Given the description of an element on the screen output the (x, y) to click on. 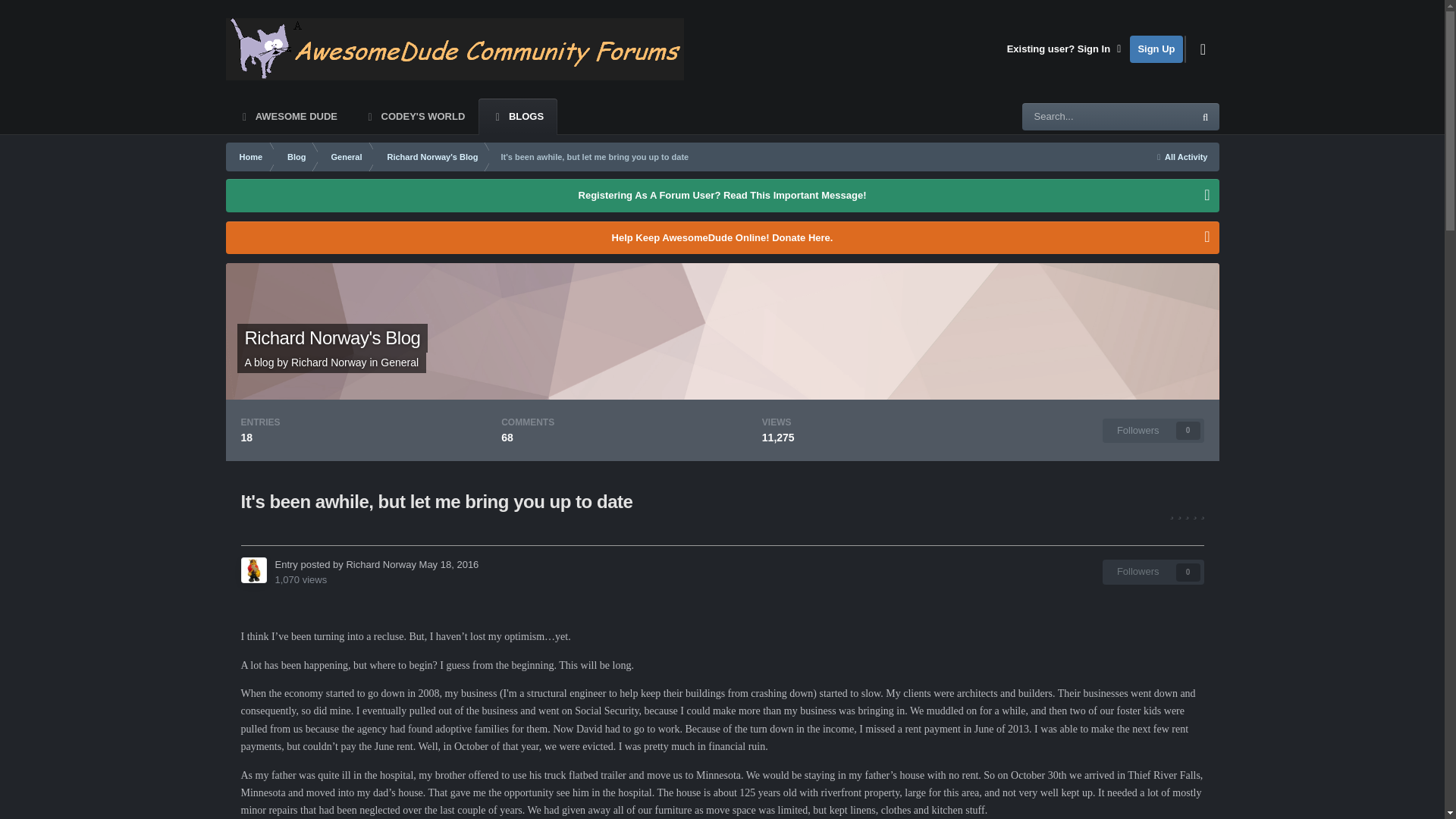
Richard Norway's Blog (430, 156)
Richard Norway's Blog (332, 337)
Sign in to follow this (1153, 571)
BLOGS (518, 116)
General (399, 362)
Registering As A Forum User? Read This Important Message! (722, 195)
Richard Norway (380, 564)
AWESOME DUDE (287, 116)
Go to Richard Norway's profile (253, 570)
Customizer (1204, 49)
Richard Norway (328, 362)
Help Keep AwesomeDude Online! Donate Here. (1153, 571)
Go to Richard Norway's profile (722, 237)
Sign Up (328, 362)
